Given the description of an element on the screen output the (x, y) to click on. 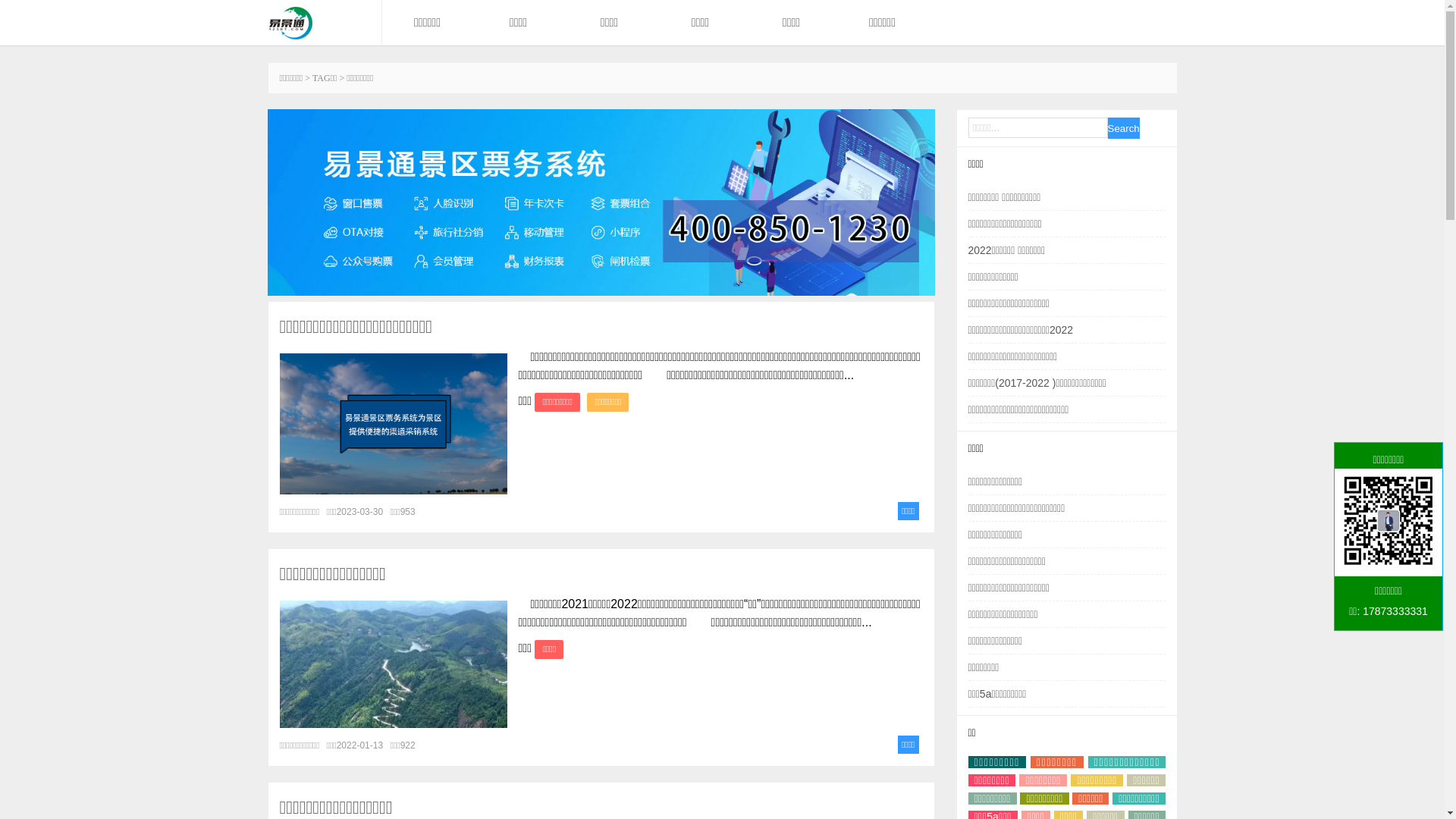
Search Element type: text (1123, 127)
